Given the description of an element on the screen output the (x, y) to click on. 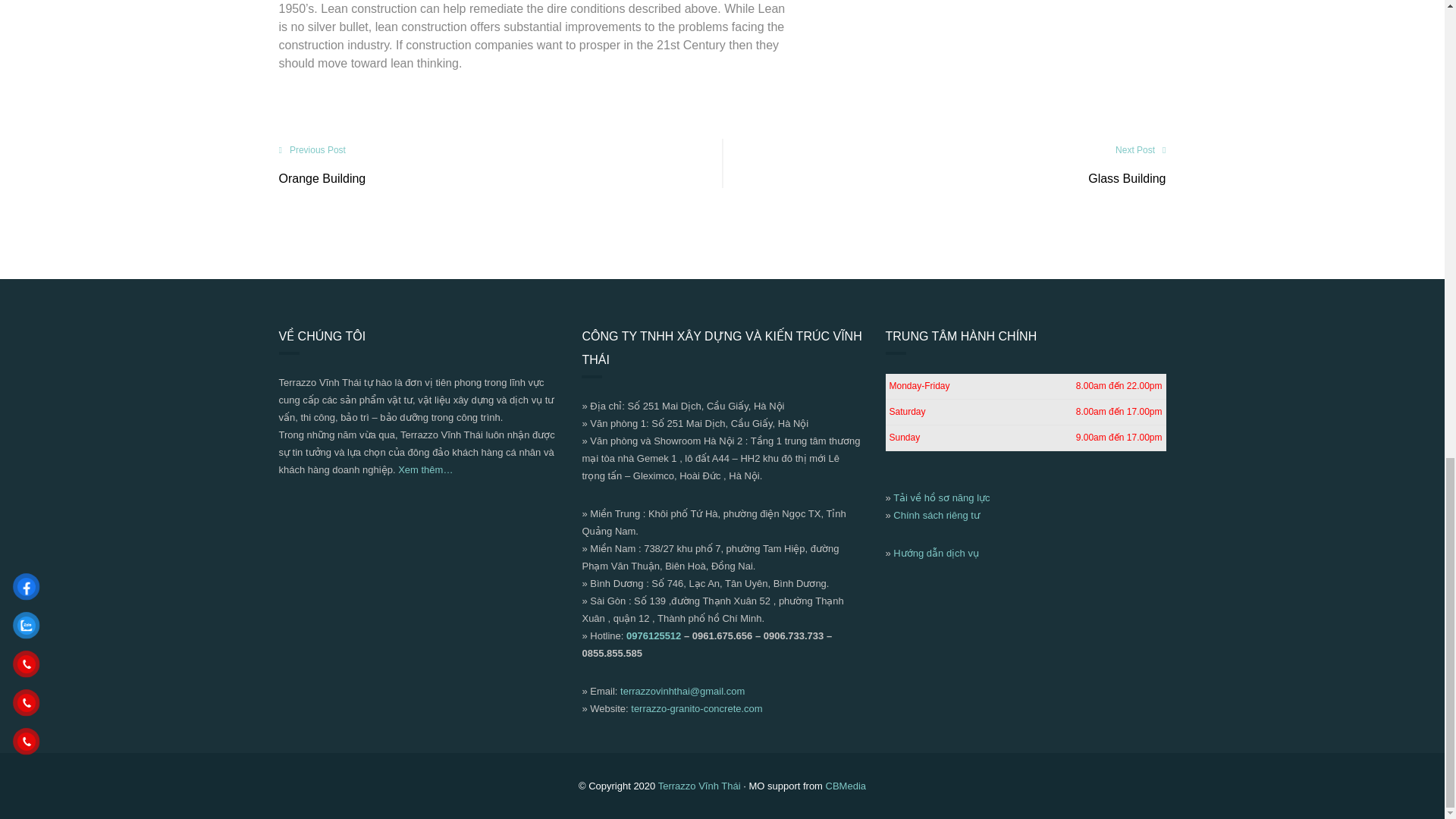
Privacy Policy (936, 514)
